Given the description of an element on the screen output the (x, y) to click on. 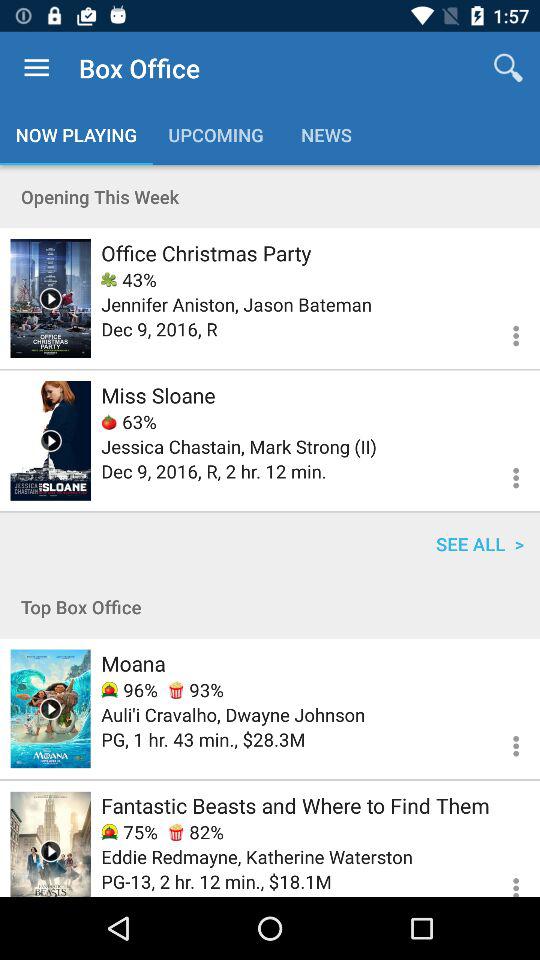
jump until 75% item (129, 831)
